Given the description of an element on the screen output the (x, y) to click on. 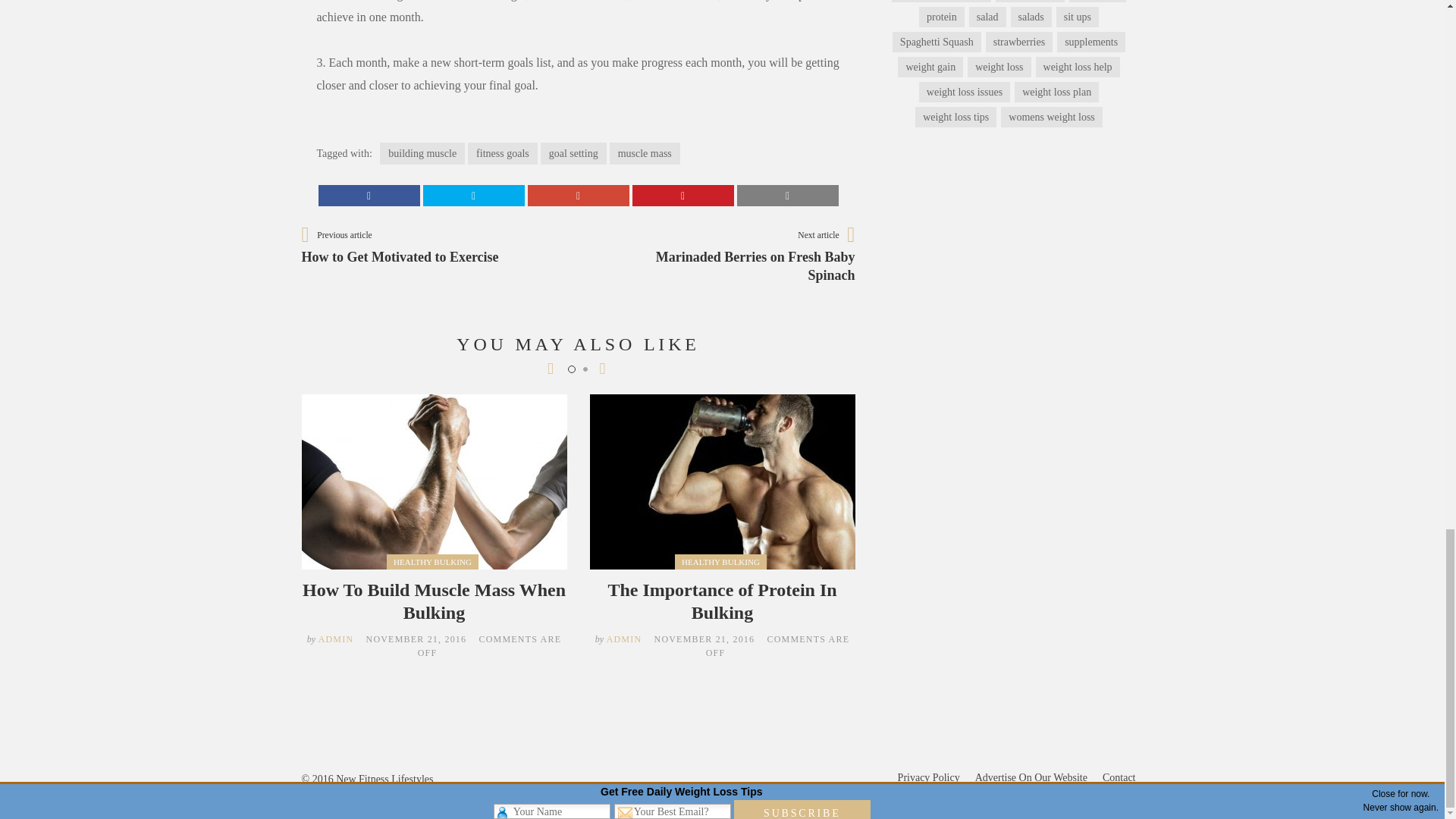
How To Build Muscle Mass When Bulking (434, 600)
See all entries (322, 255)
goal setting (573, 153)
The Importance of Protein In Bulking (721, 600)
1 (571, 369)
Posts by admin (624, 638)
2 (584, 369)
Back All Entries (322, 255)
muscle mass (644, 153)
ADMIN (335, 638)
How To Build Muscle Mass When Bulking (434, 600)
Posts by admin (730, 257)
building muscle (335, 638)
HEALTHY BULKING (422, 153)
